Given the description of an element on the screen output the (x, y) to click on. 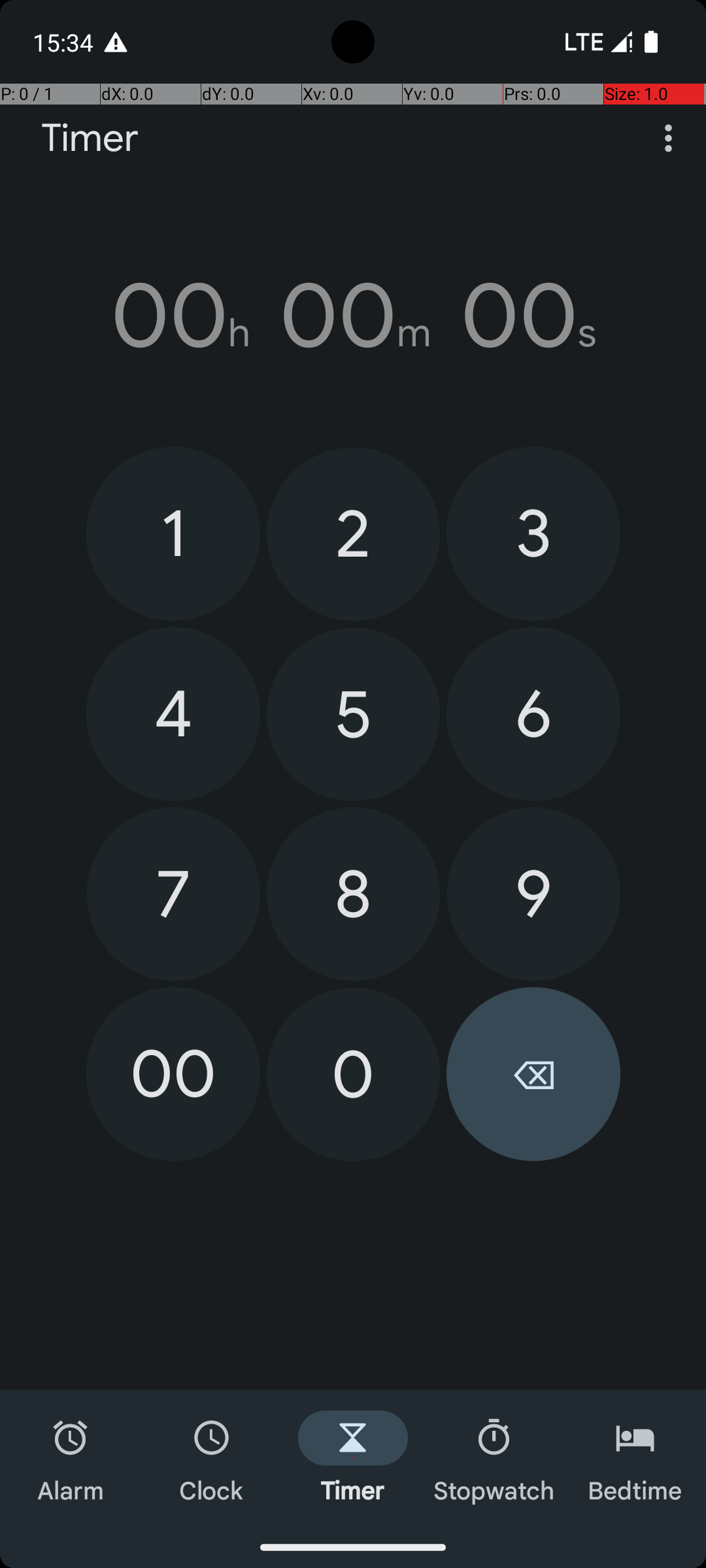
00h 00m 00s Element type: android.widget.TextView (353, 315)
